Given the description of an element on the screen output the (x, y) to click on. 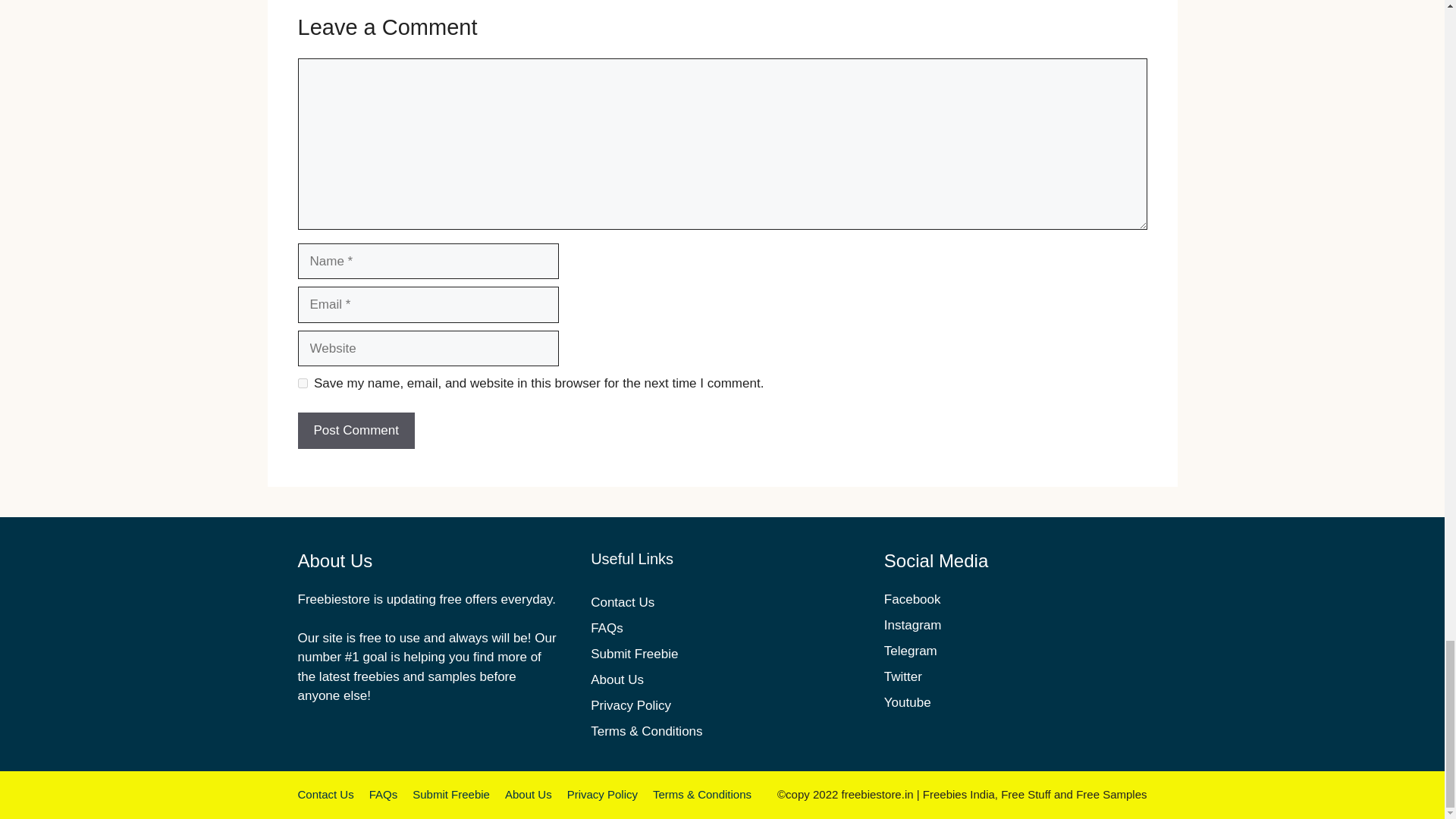
Post Comment (355, 430)
yes (302, 383)
